Given the description of an element on the screen output the (x, y) to click on. 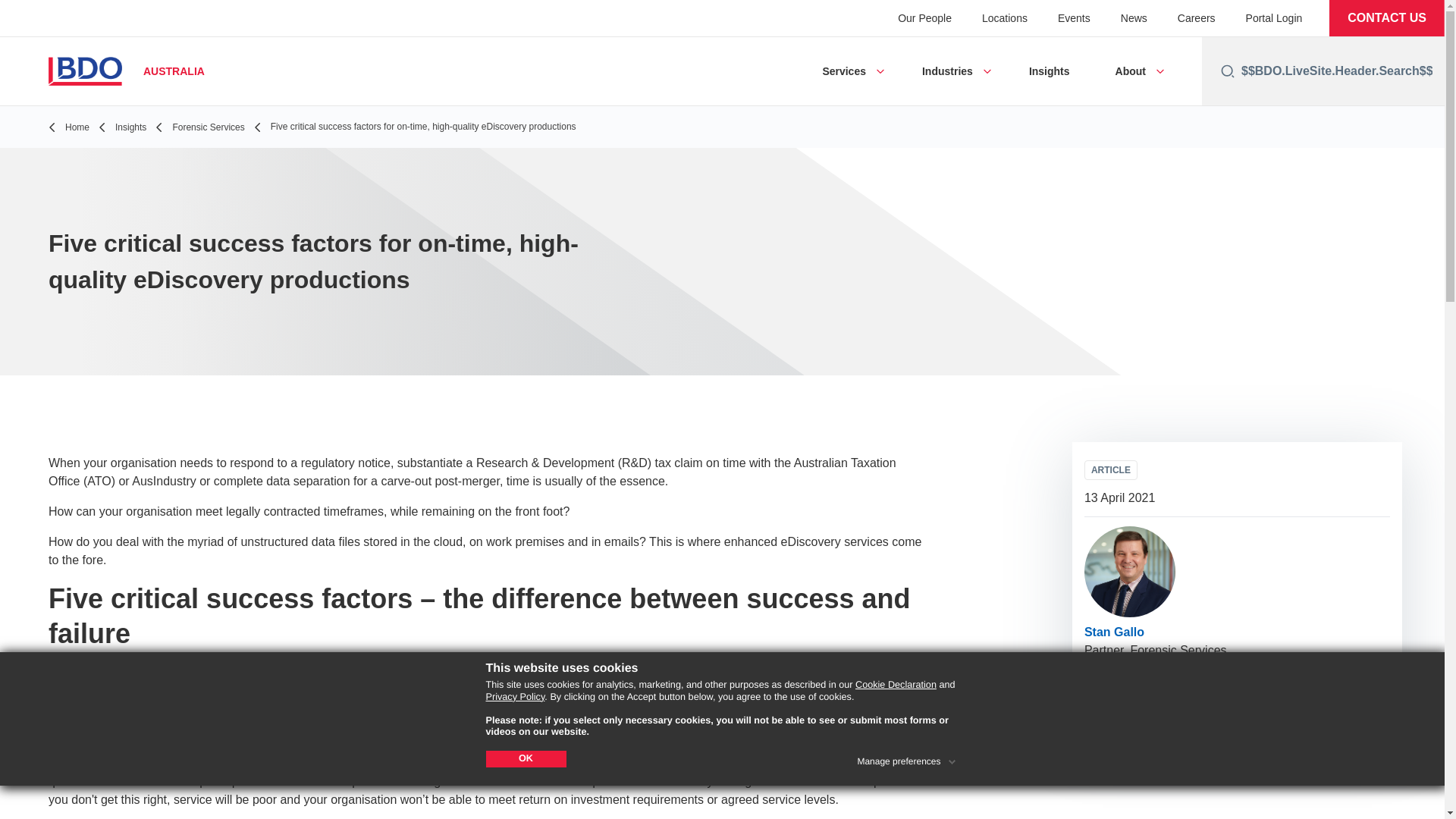
OK (525, 759)
Privacy Policy (514, 696)
Cookie Declaration (896, 684)
Manage preferences (907, 759)
